Given the description of an element on the screen output the (x, y) to click on. 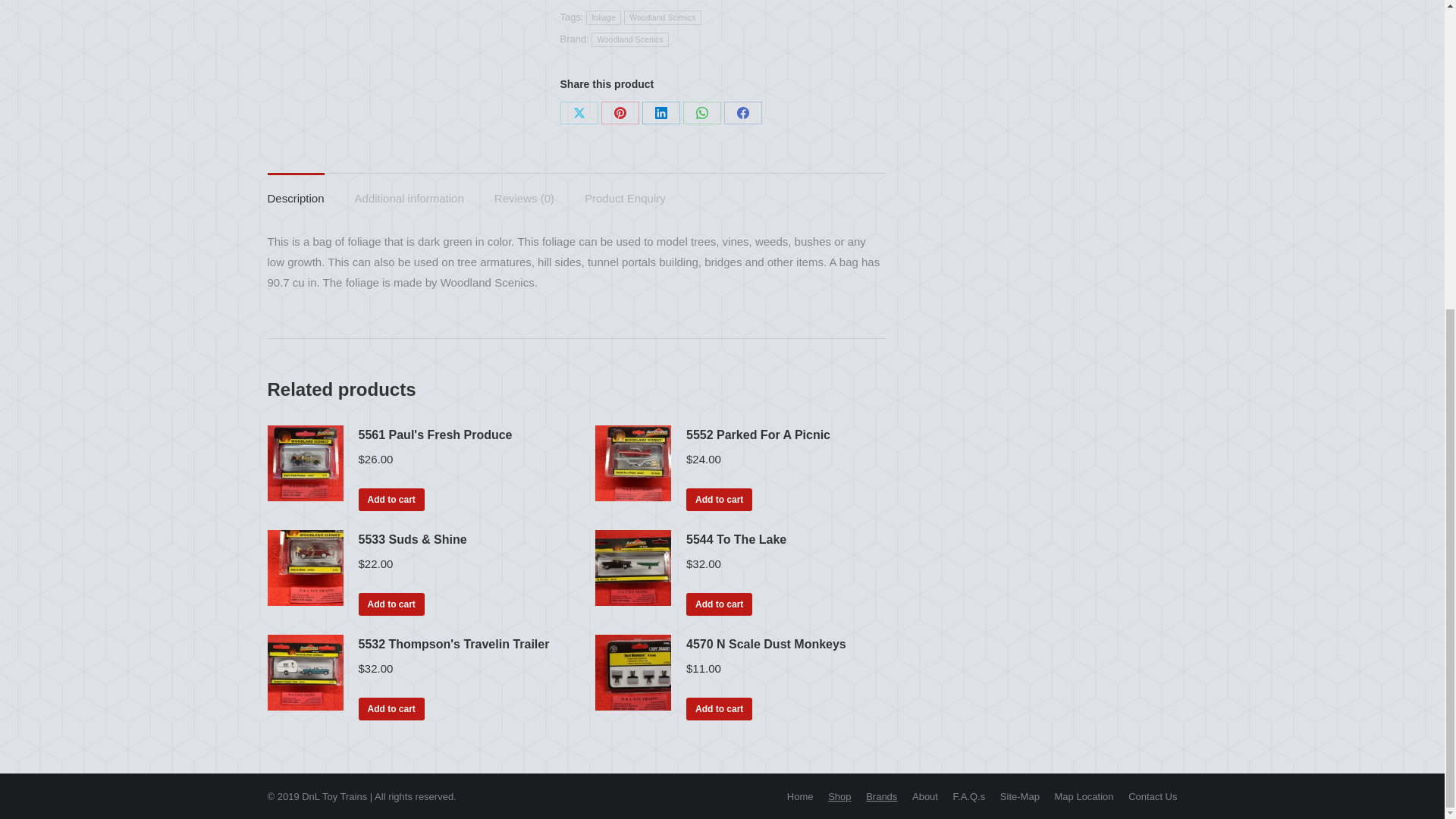
X (577, 112)
Pinterest (619, 112)
Facebook (742, 112)
WhatsApp (701, 112)
LinkedIn (660, 112)
